Given the description of an element on the screen output the (x, y) to click on. 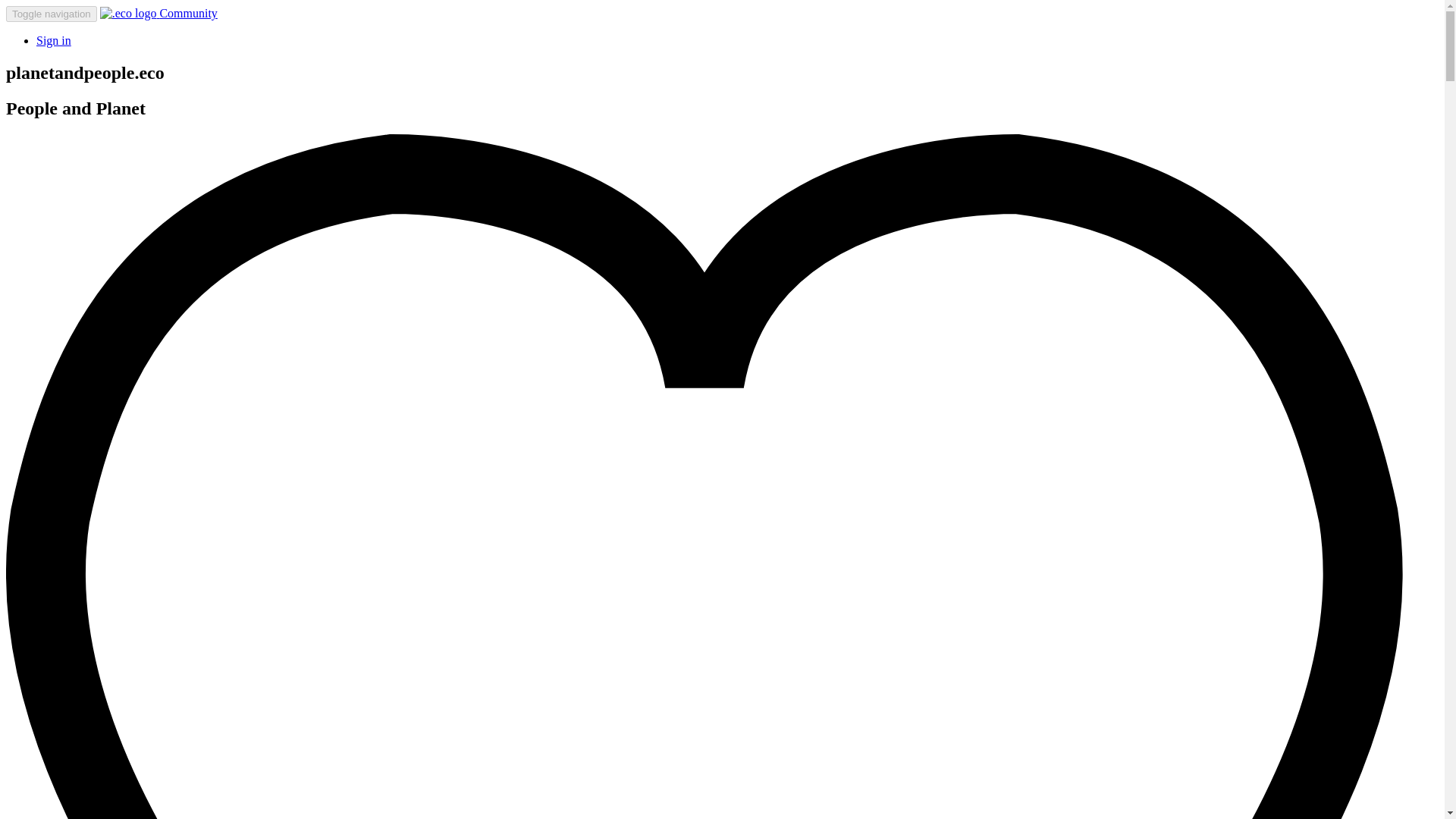
Community (158, 12)
Sign in (53, 40)
Toggle navigation (51, 13)
